Given the description of an element on the screen output the (x, y) to click on. 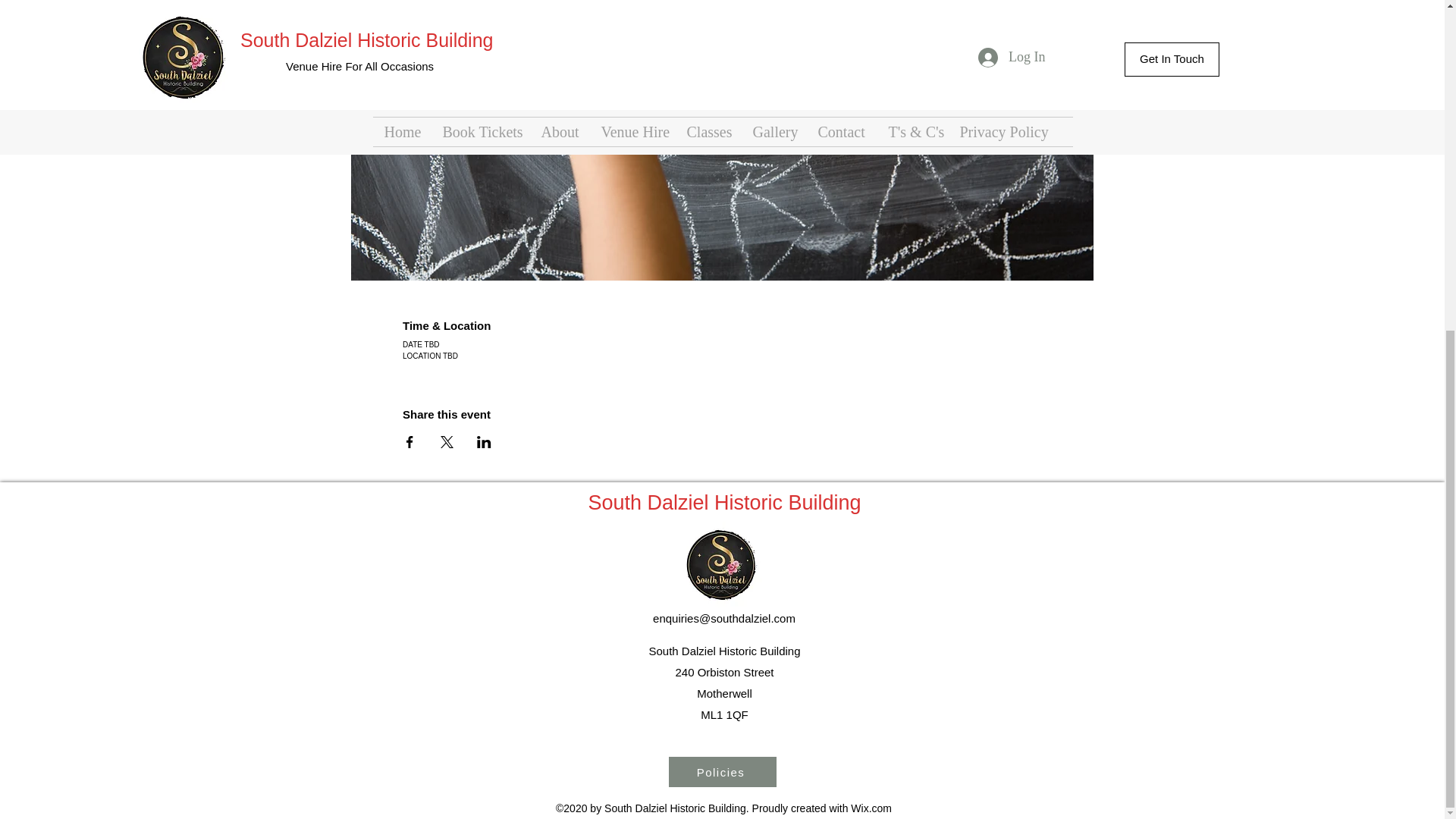
South Dalziel Historic Building (724, 502)
Policies (722, 771)
